Given the description of an element on the screen output the (x, y) to click on. 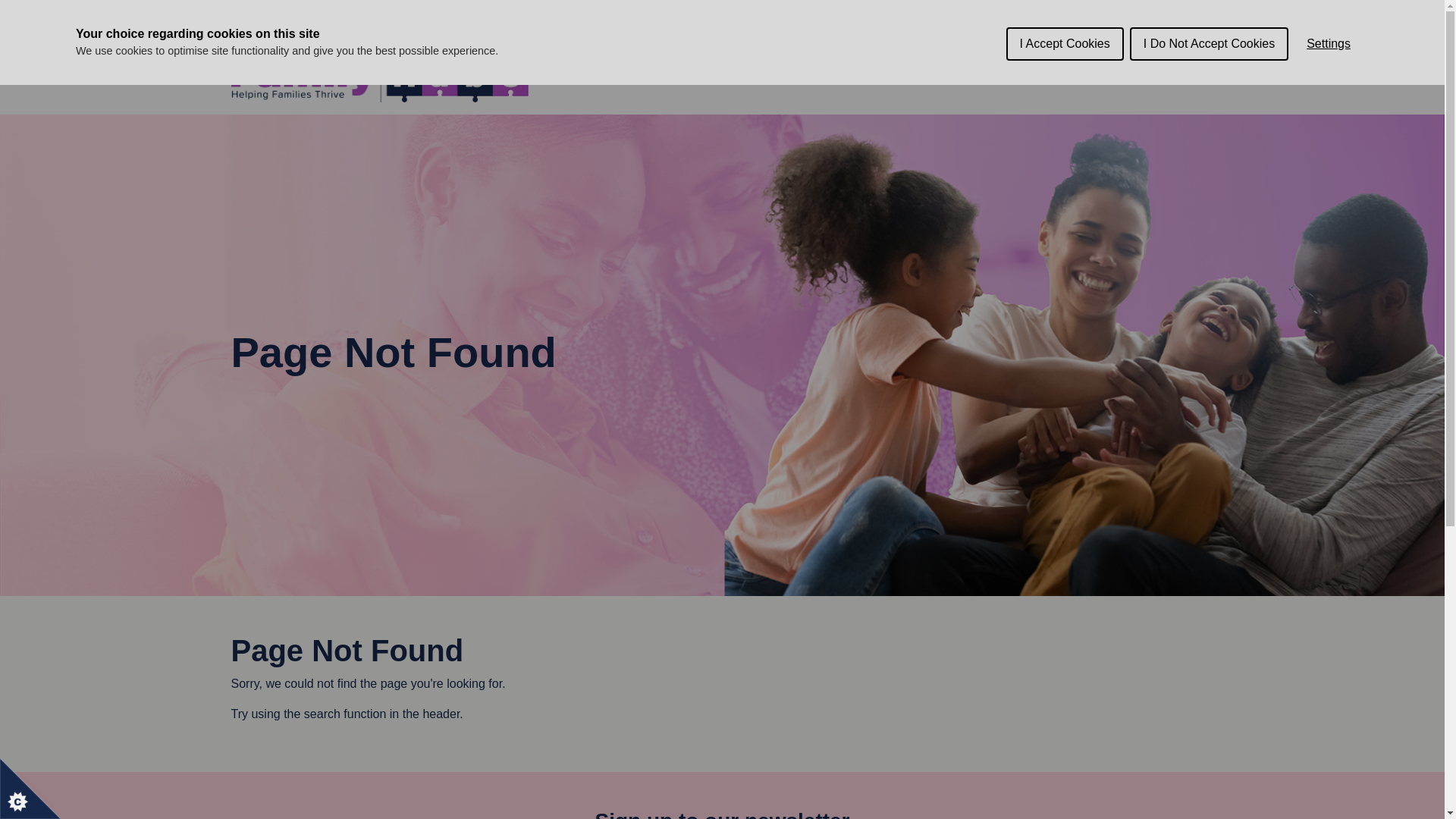
News (1000, 71)
Contact Us (1067, 71)
Settings (1328, 11)
Return to homepage (382, 70)
Facebook (1125, 70)
I Do Not Accept Cookies (1208, 5)
About Us (602, 71)
Your parent journey (711, 71)
Instagram (1151, 70)
YouTube (1177, 70)
